Given the description of an element on the screen output the (x, y) to click on. 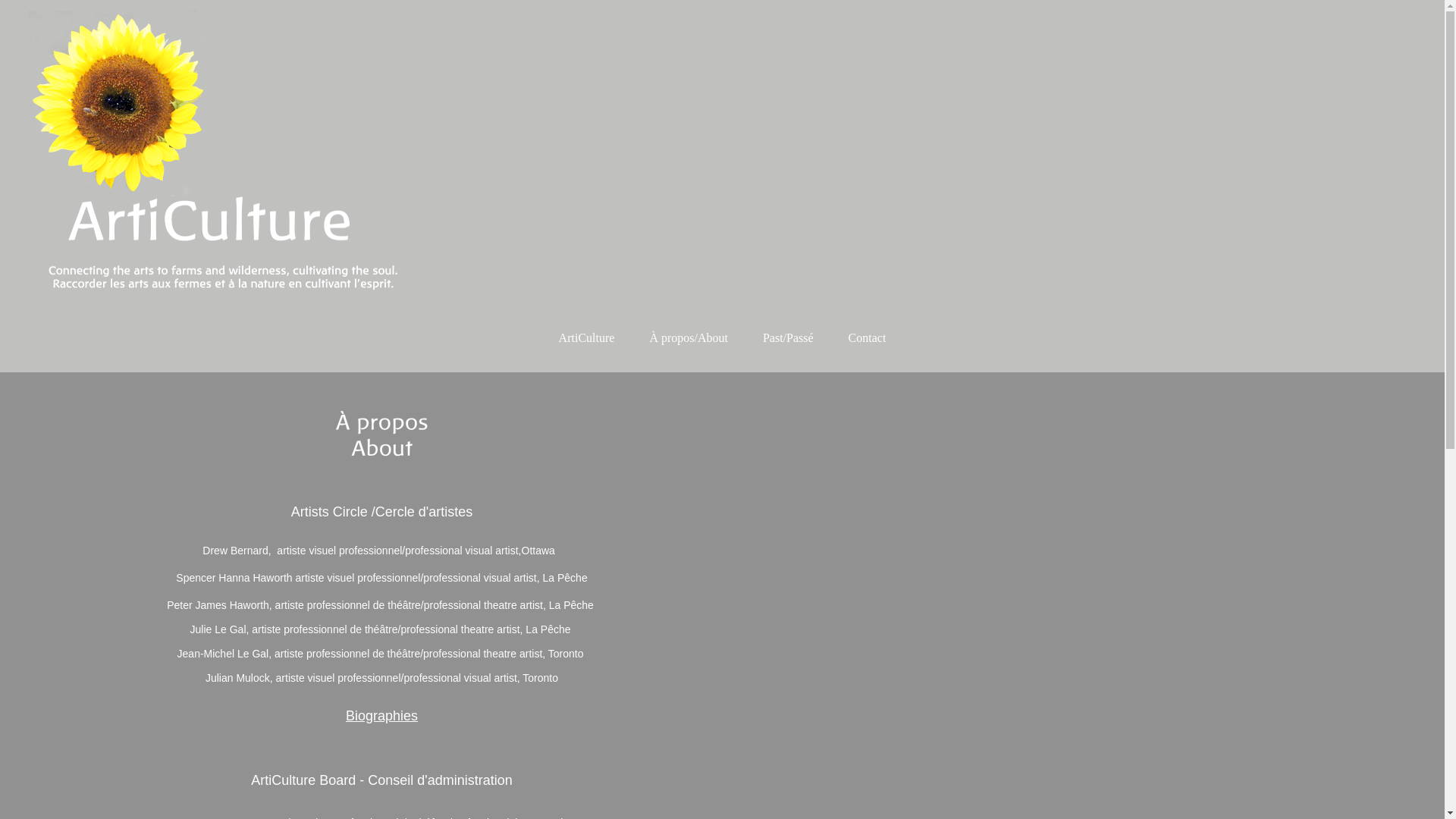
Contact Element type: text (867, 337)
Biographies Element type: text (381, 715)
ArtiCulture Element type: text (586, 337)
